Given the description of an element on the screen output the (x, y) to click on. 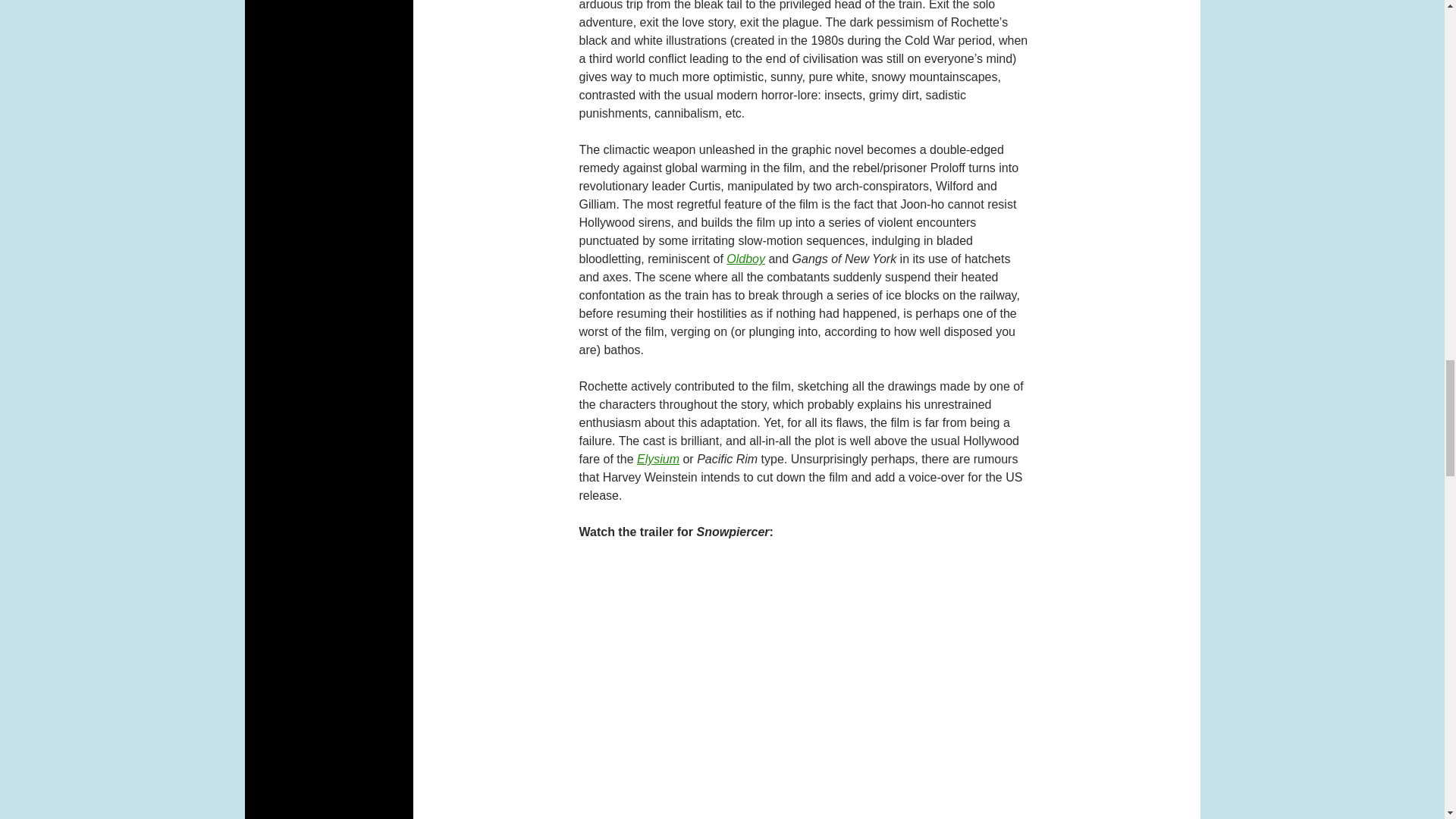
Oldboy (745, 258)
Elysium (658, 459)
